Given the description of an element on the screen output the (x, y) to click on. 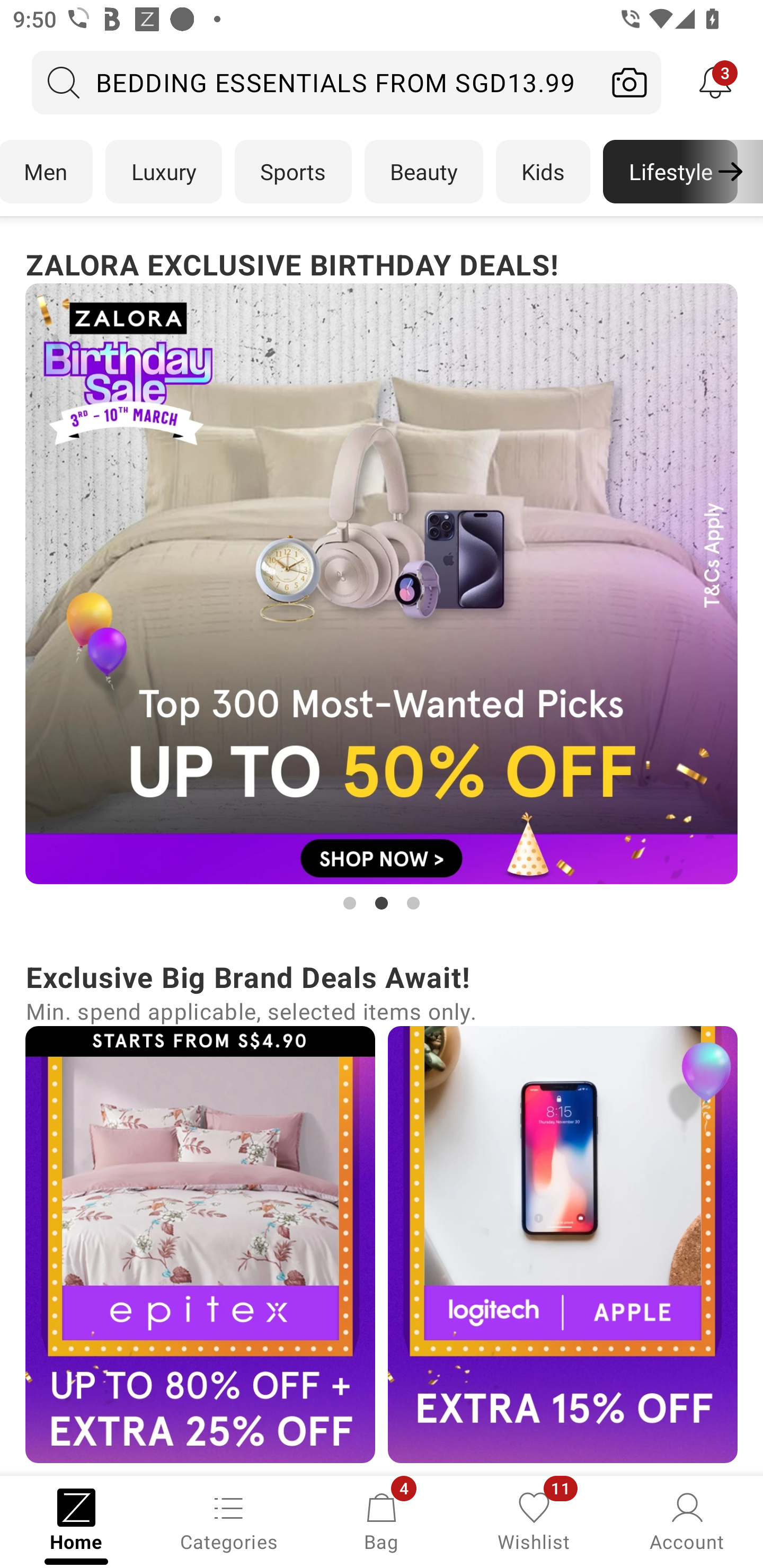
BEDDING ESSENTIALS FROM SGD13.99 (314, 82)
Men (46, 171)
Luxury (163, 171)
Sports (293, 171)
Beauty (423, 171)
Kids (542, 171)
Lifestyle (669, 171)
ZALORA EXCLUSIVE BIRTHDAY DEALS! Campaign banner (381, 578)
Campaign banner (381, 583)
Campaign banner (200, 1243)
Campaign banner (562, 1243)
Categories (228, 1519)
Bag, 4 new notifications Bag (381, 1519)
Wishlist, 11 new notifications Wishlist (533, 1519)
Account (686, 1519)
